Given the description of an element on the screen output the (x, y) to click on. 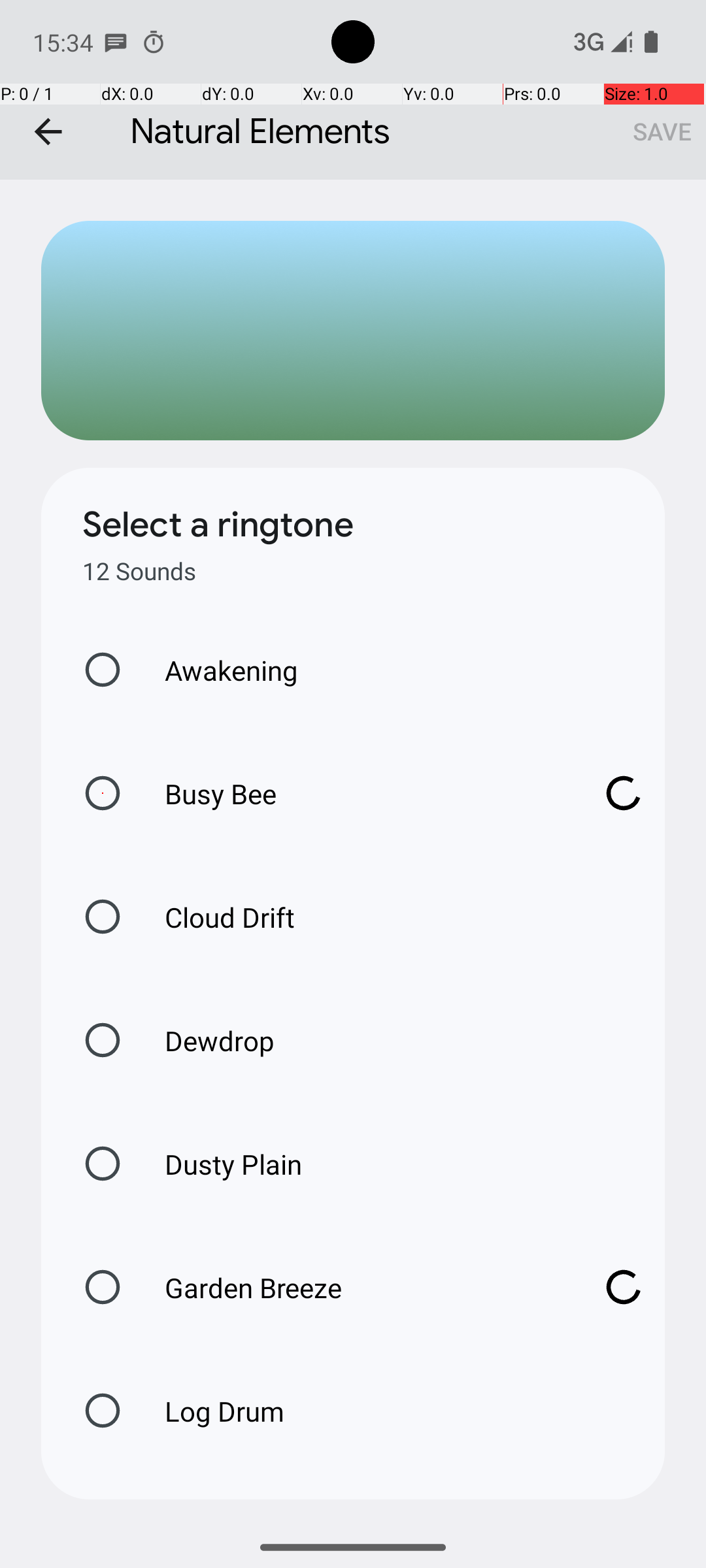
Awakening Element type: android.widget.TextView (217, 669)
Busy Bee Element type: android.widget.TextView (359, 793)
Download in progress Element type: android.widget.ImageView (623, 792)
Cloud Drift Element type: android.widget.TextView (215, 916)
Dewdrop Element type: android.widget.TextView (205, 1040)
Dusty Plain Element type: android.widget.TextView (219, 1163)
Garden Breeze Element type: android.widget.TextView (359, 1287)
Log Drum Element type: android.widget.TextView (210, 1410)
